Given the description of an element on the screen output the (x, y) to click on. 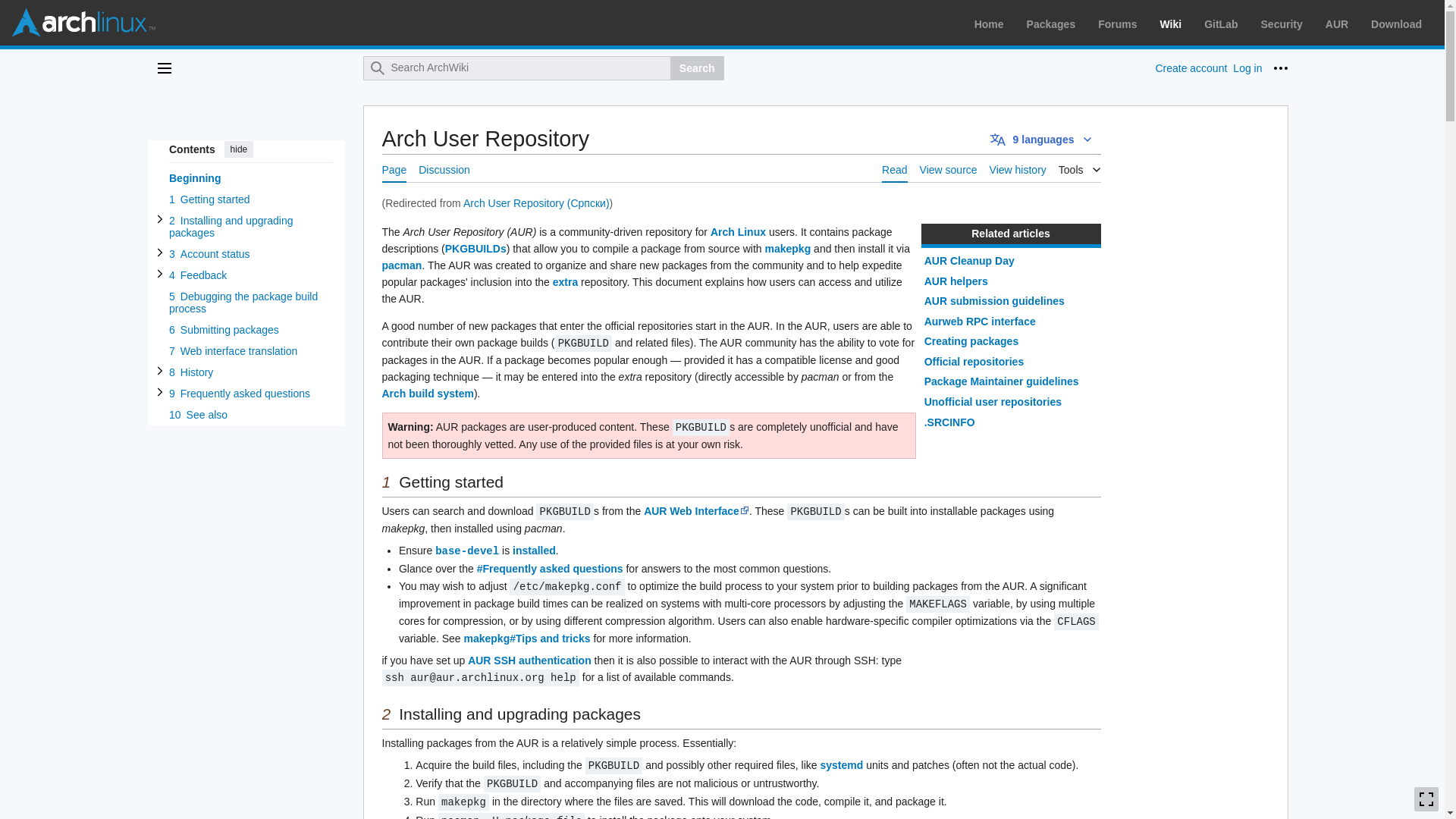
hide (238, 149)
More options (1280, 68)
Home (989, 24)
GitLab (1220, 24)
AUR (1336, 24)
Search (696, 68)
Security (1281, 24)
Toggle Installing and upgrading packages subsection (159, 218)
Wiki (1171, 24)
